Given the description of an element on the screen output the (x, y) to click on. 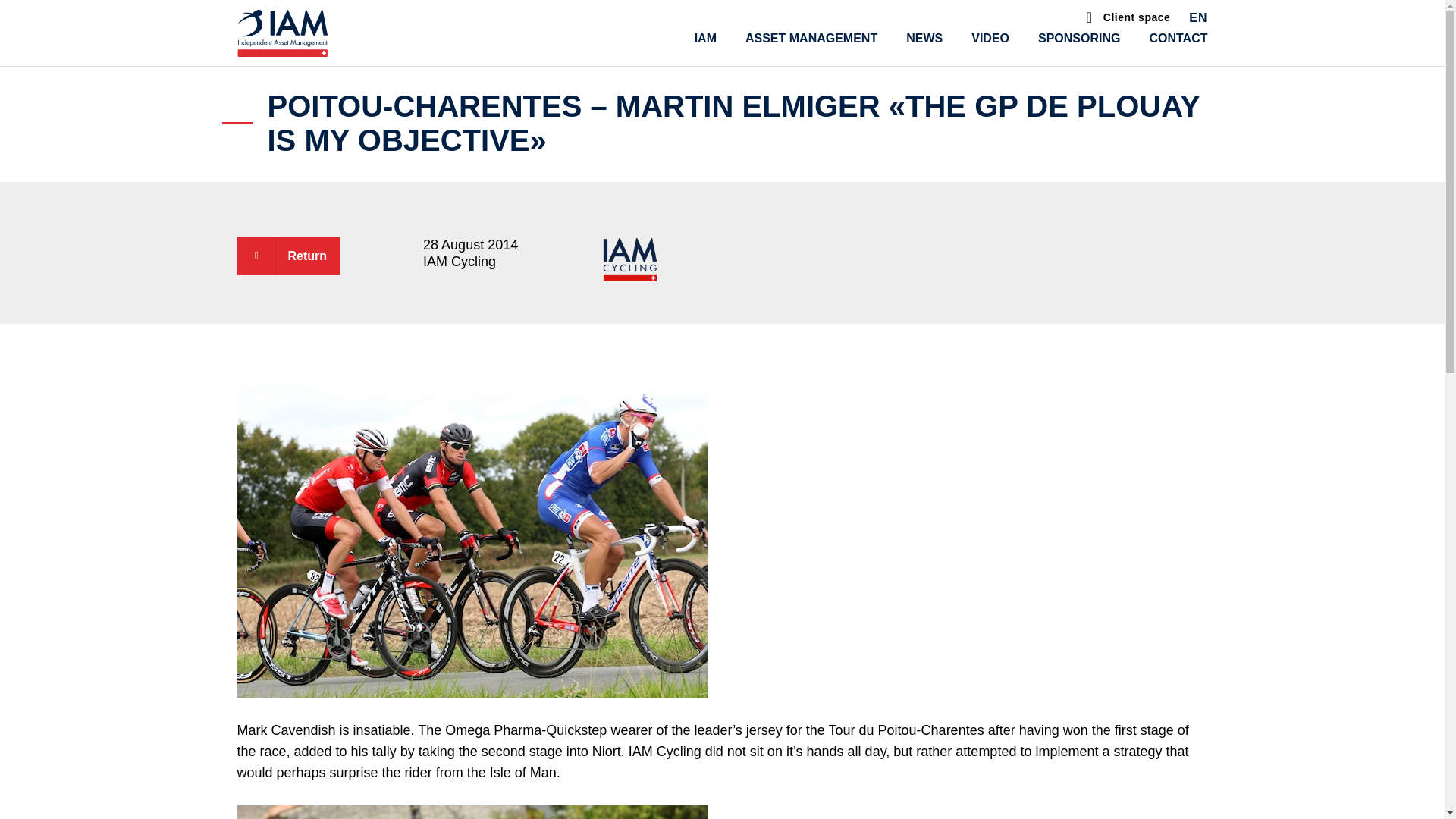
NEWS (923, 38)
Return (287, 255)
ASSET MANAGEMENT (811, 38)
EN (1198, 19)
VIDEO (990, 38)
CONTACT (1177, 38)
SPONSORING (1078, 38)
IAM (705, 38)
